Given the description of an element on the screen output the (x, y) to click on. 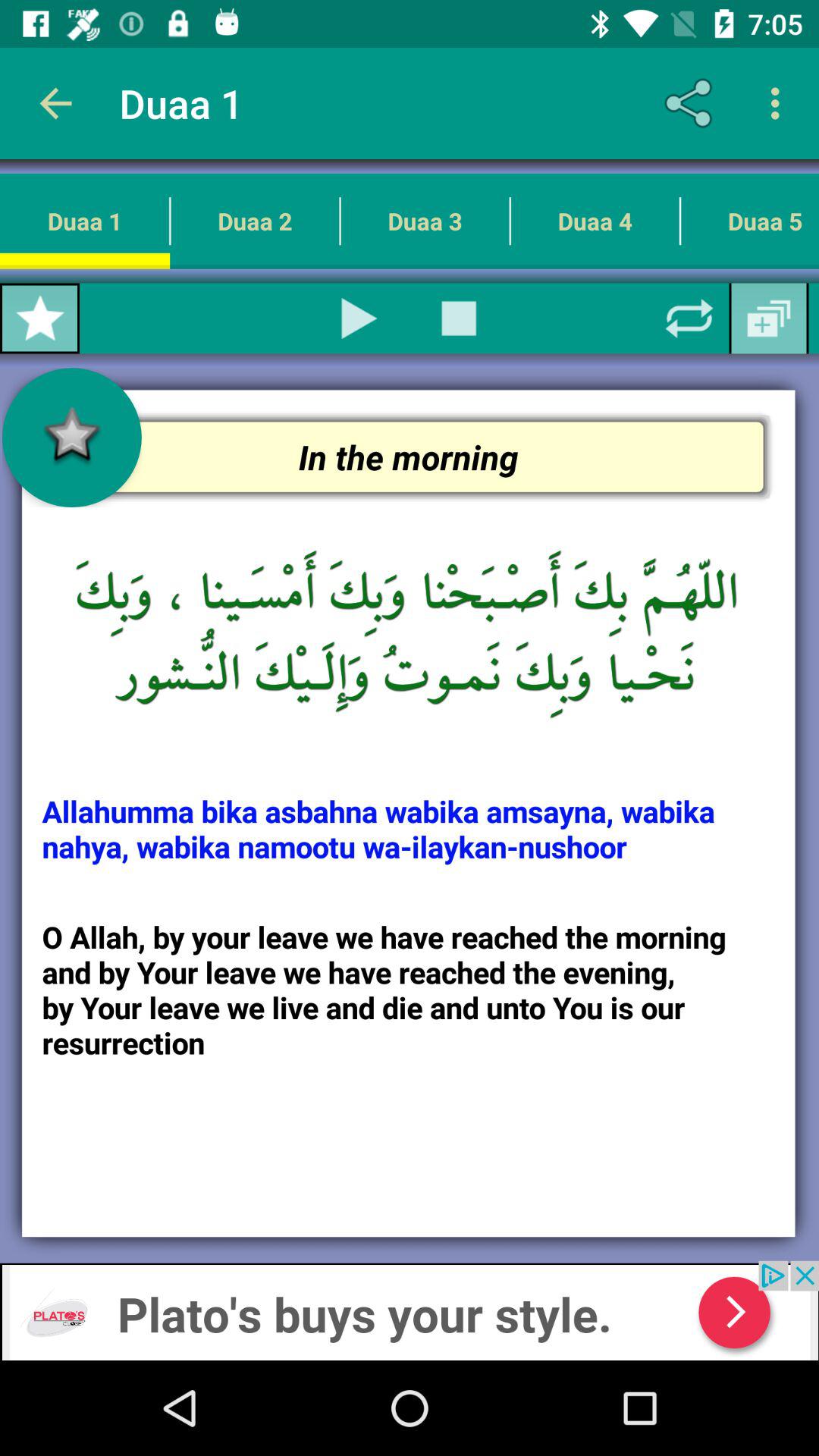
refresh page (689, 318)
